Given the description of an element on the screen output the (x, y) to click on. 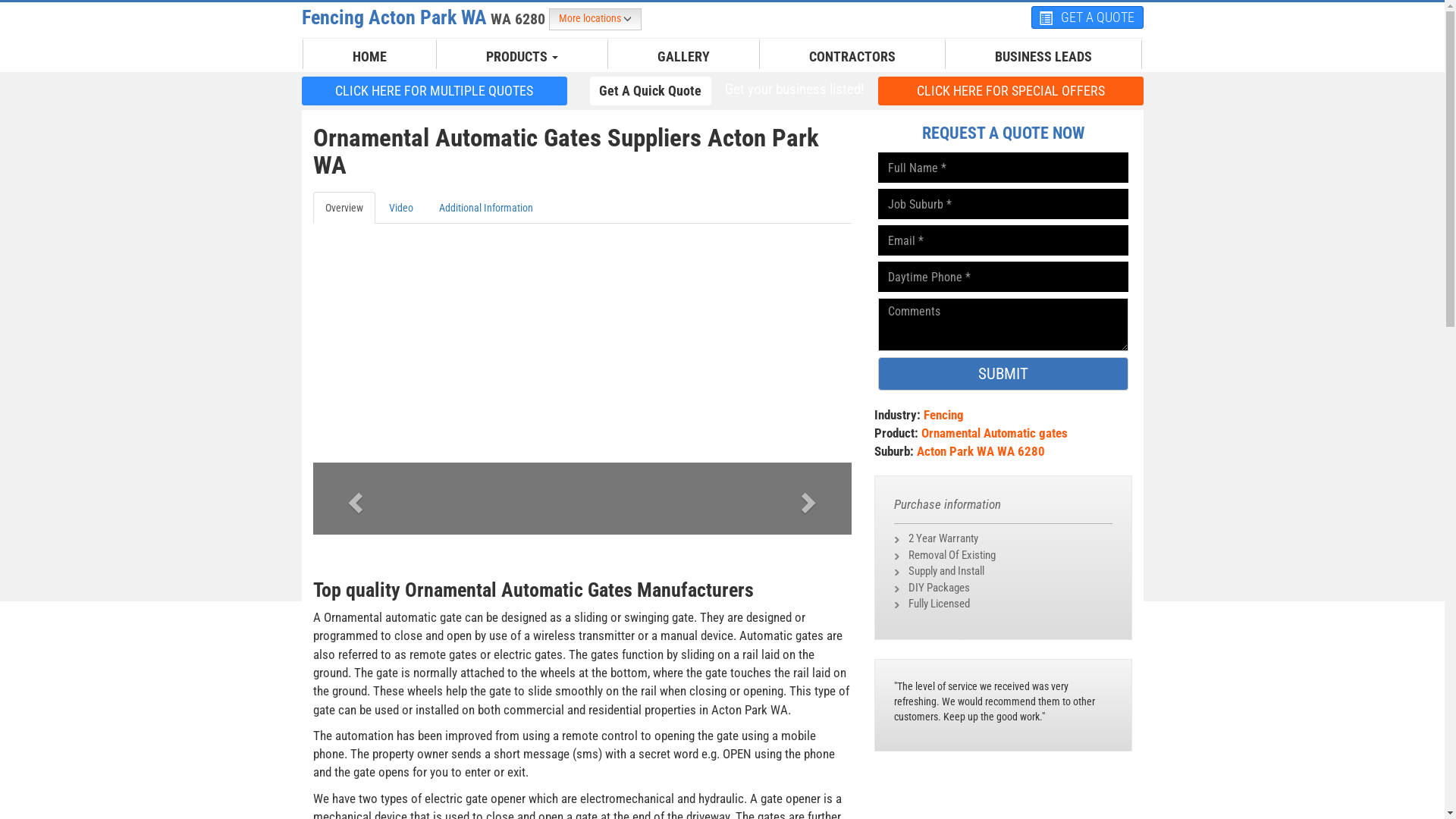
SUBMIT Element type: text (1003, 373)
HOME Element type: text (369, 56)
prev Element type: hover (352, 498)
Additional Information Element type: text (485, 207)
Video Element type: text (400, 207)
More locations Element type: text (595, 19)
CONTRACTORS Element type: text (851, 56)
Fencing Acton Park WA WA 6280 Element type: text (425, 17)
Get A Quick Quote Element type: text (650, 90)
CLICK HERE FOR SPECIAL OFFERS Element type: text (1010, 90)
GET A QUOTE Element type: text (1087, 17)
GALLERY Element type: text (683, 56)
Get A Quick Quote Element type: text (650, 90)
BUSINESS LEADS Element type: text (1042, 56)
Overview Element type: text (343, 207)
CLICK HERE FOR MULTIPLE QUOTES Element type: text (434, 90)
PRODUCTS Element type: text (521, 56)
CLICK HERE FOR MULTIPLE QUOTES Element type: text (434, 90)
CLICK HERE FOR SPECIAL OFFERS Element type: text (1010, 90)
Get your business listed! Element type: text (793, 89)
